Given the description of an element on the screen output the (x, y) to click on. 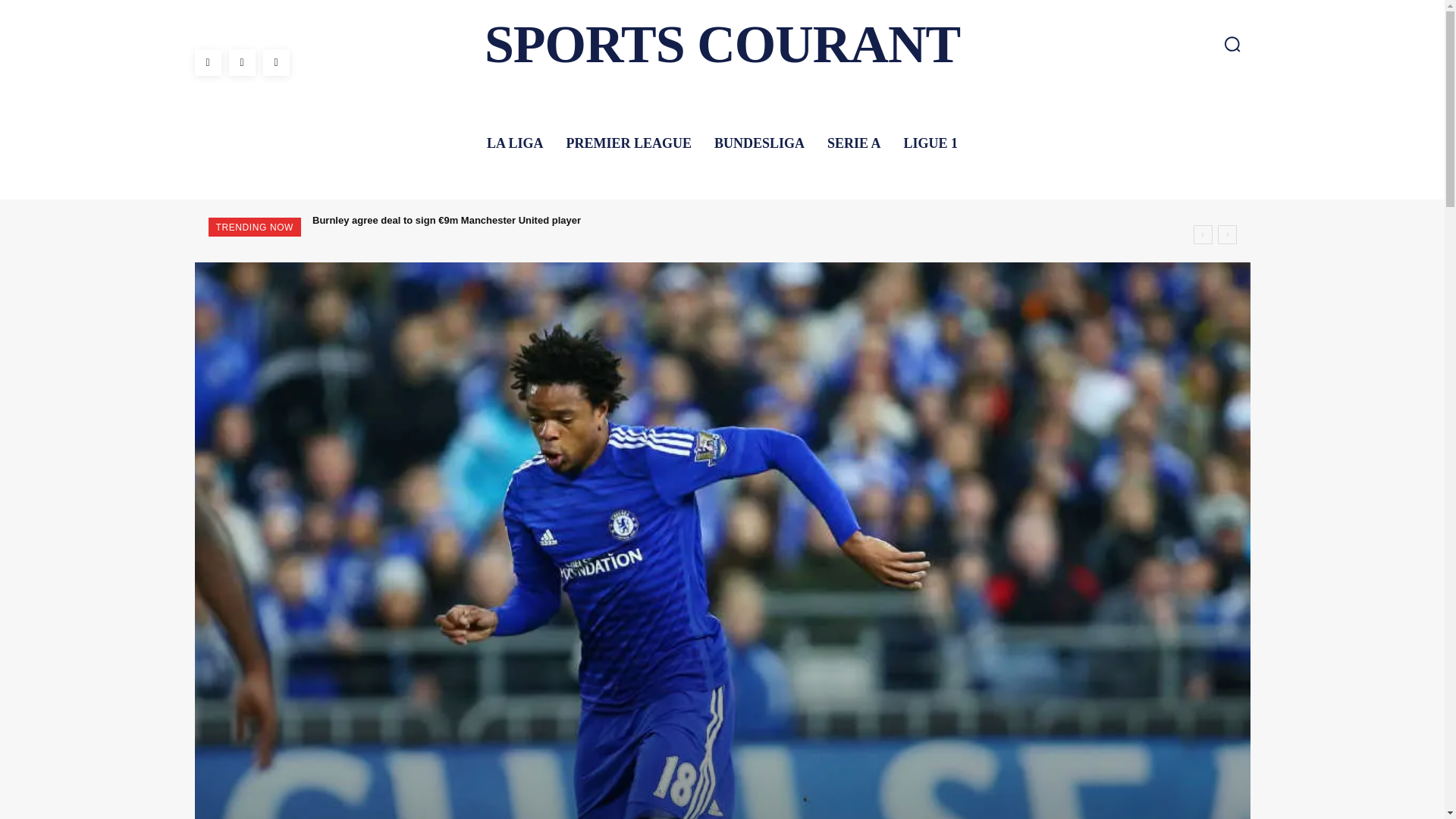
PREMIER LEAGUE (627, 143)
SPORTS COURANT (721, 44)
Twitter (275, 62)
Flipboard (242, 62)
BUNDESLIGA (759, 143)
LIGUE 1 (931, 143)
Facebook (207, 62)
LA LIGA (515, 143)
SERIE A (853, 143)
